Given the description of an element on the screen output the (x, y) to click on. 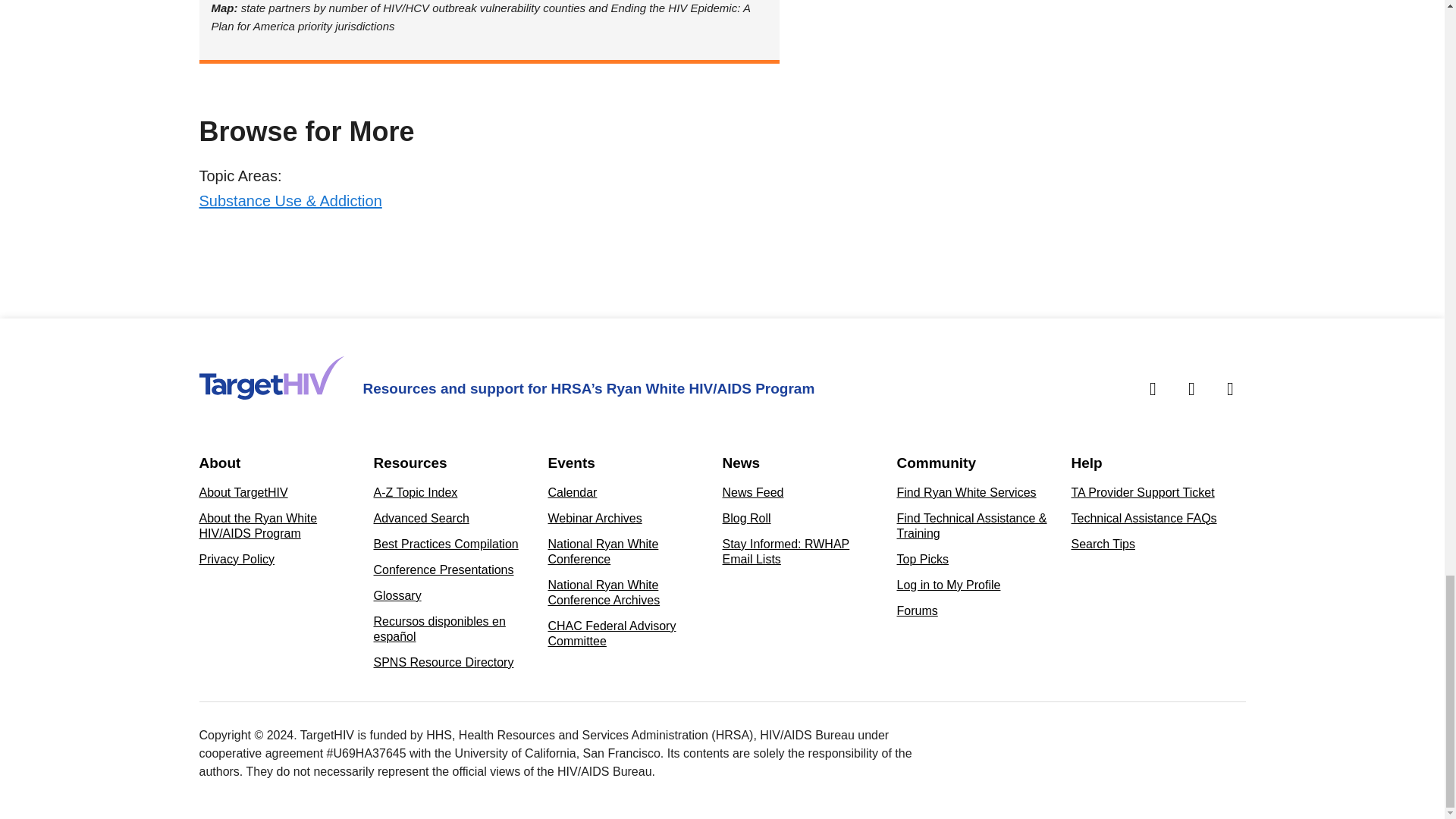
Home (270, 377)
